Given the description of an element on the screen output the (x, y) to click on. 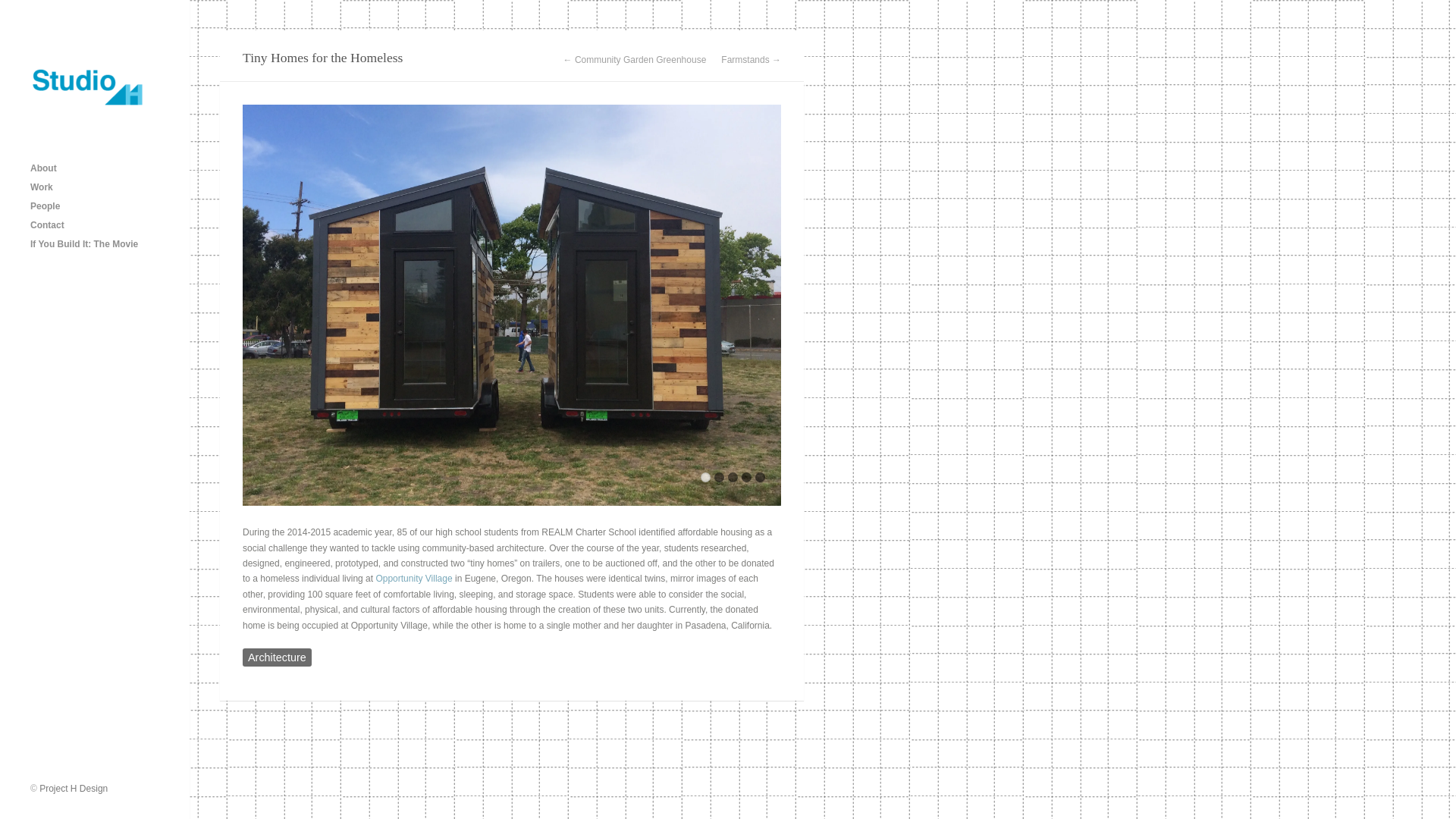
Opportunity Village (413, 578)
5 (760, 477)
Contact (96, 225)
About (96, 168)
1 (705, 477)
2 (718, 477)
4 (746, 477)
Work (96, 187)
Architecture (277, 657)
If You Build It: The Movie (96, 244)
People (96, 206)
3 (733, 477)
